Given the description of an element on the screen output the (x, y) to click on. 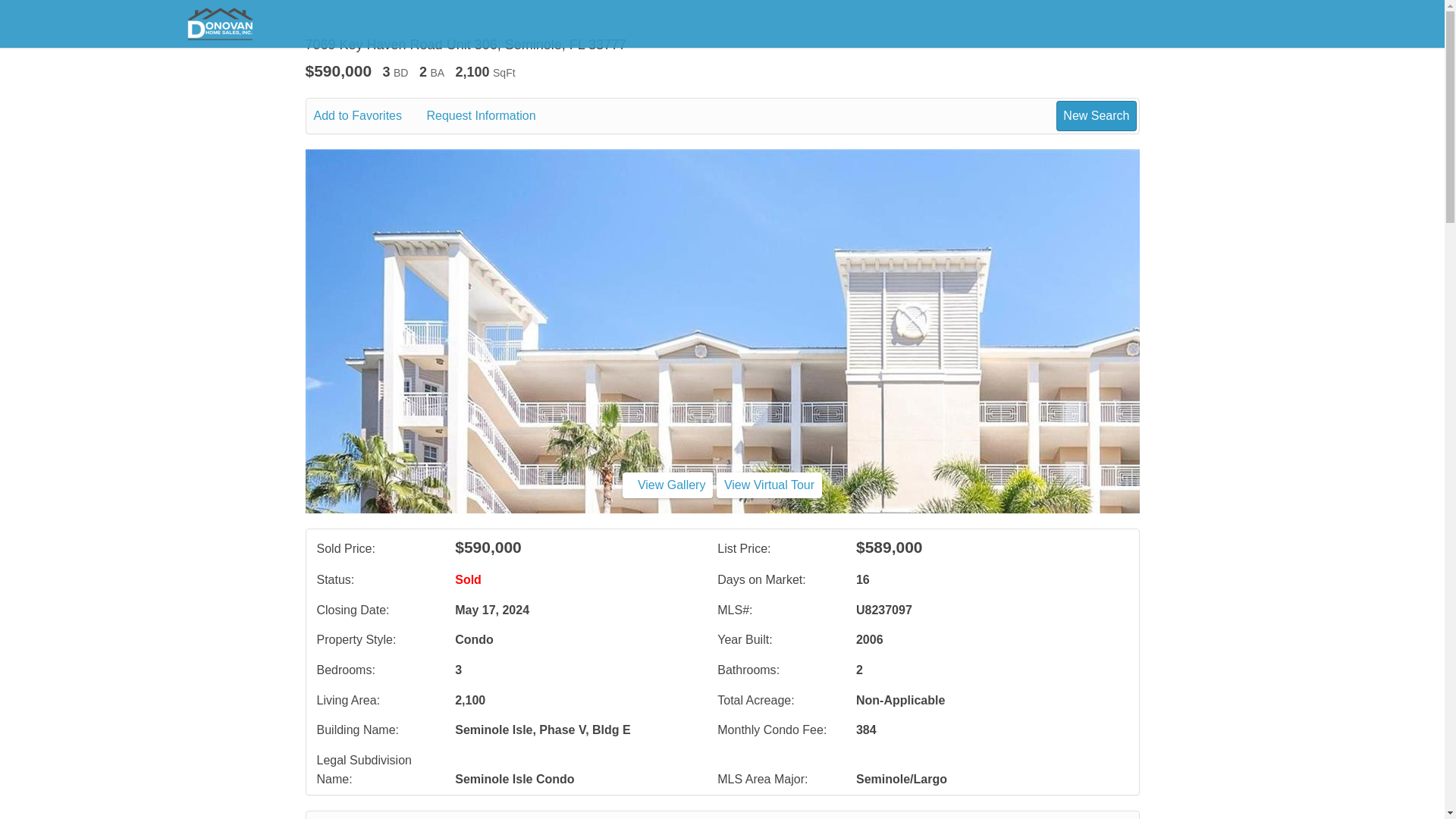
View Virtual Tour (769, 484)
Contact Us (354, 818)
View Virtual Tour (769, 484)
New Search (1094, 818)
View Gallery (668, 484)
View on Map (507, 818)
Share (583, 818)
New Search (1096, 115)
Request Information (491, 115)
View Gallery (668, 484)
